Given the description of an element on the screen output the (x, y) to click on. 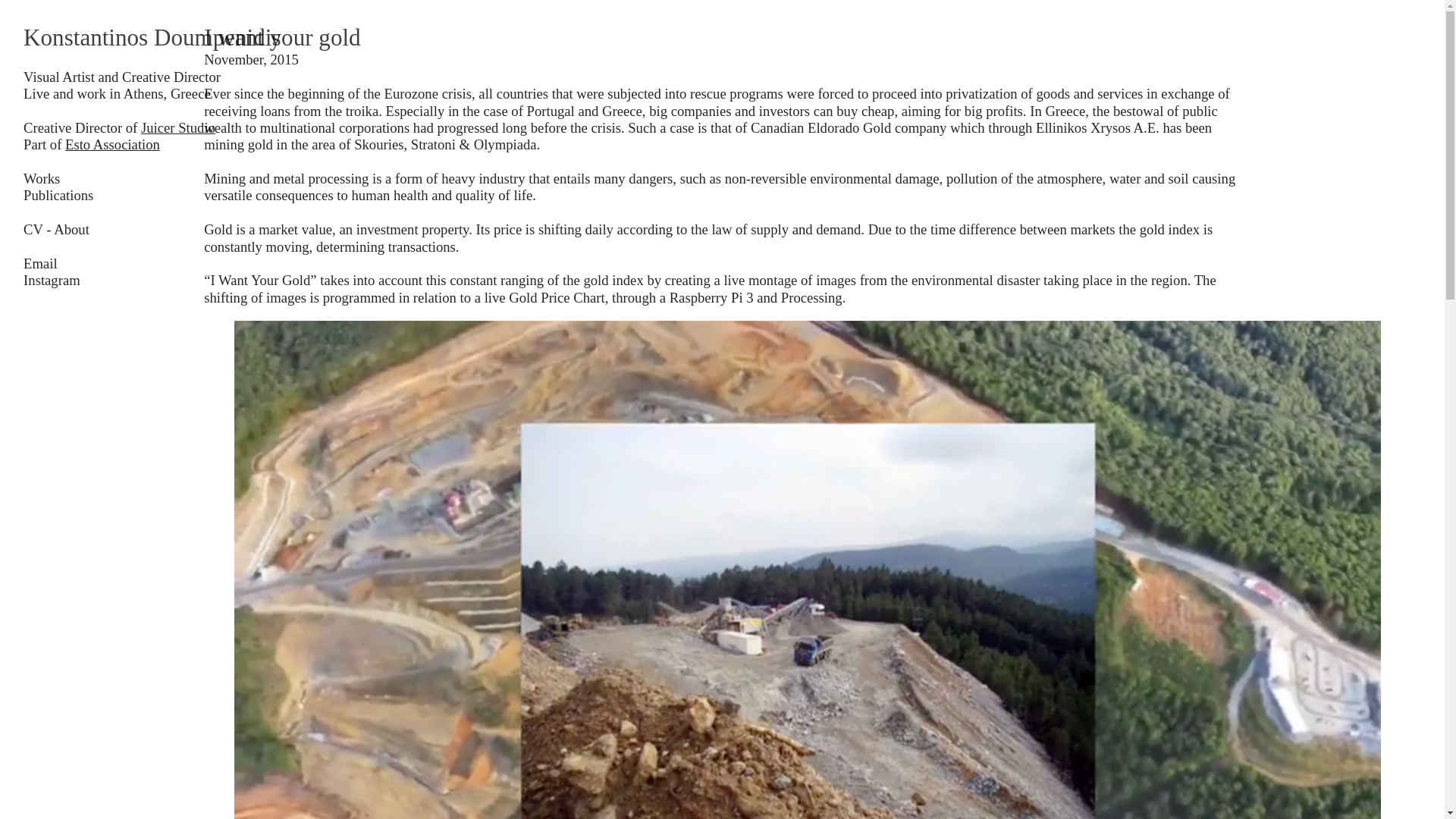
Email (40, 263)
Esto Association (112, 144)
Instagram (51, 279)
Gold Price Chart (556, 297)
CV (33, 229)
I want your gold (721, 45)
Juicer Studio (178, 127)
Works (41, 178)
About (70, 229)
Konstantinos Doumpenidis (180, 45)
November, 2015 (250, 59)
Publications (58, 195)
